Given the description of an element on the screen output the (x, y) to click on. 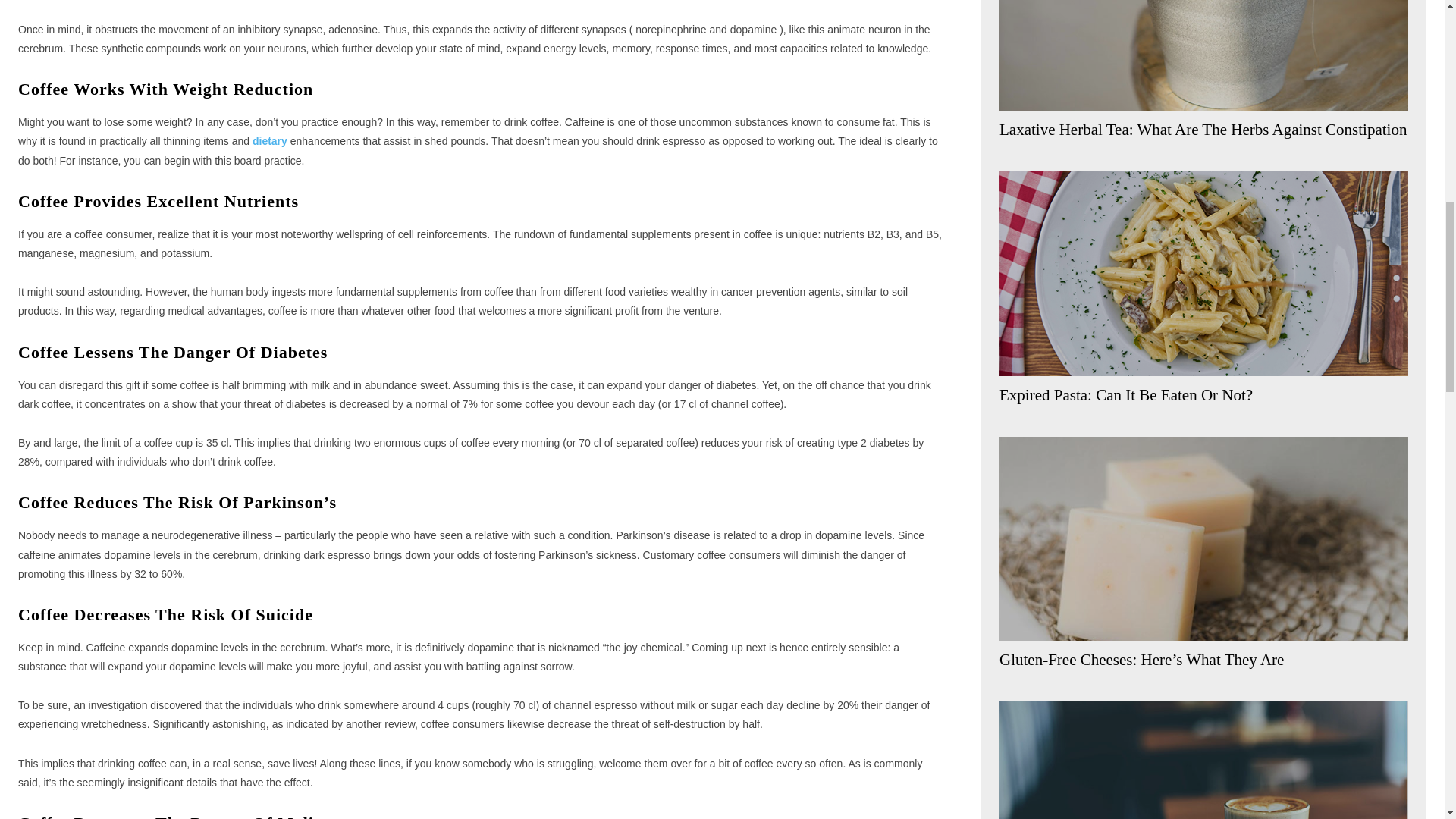
dietary (268, 141)
